Given the description of an element on the screen output the (x, y) to click on. 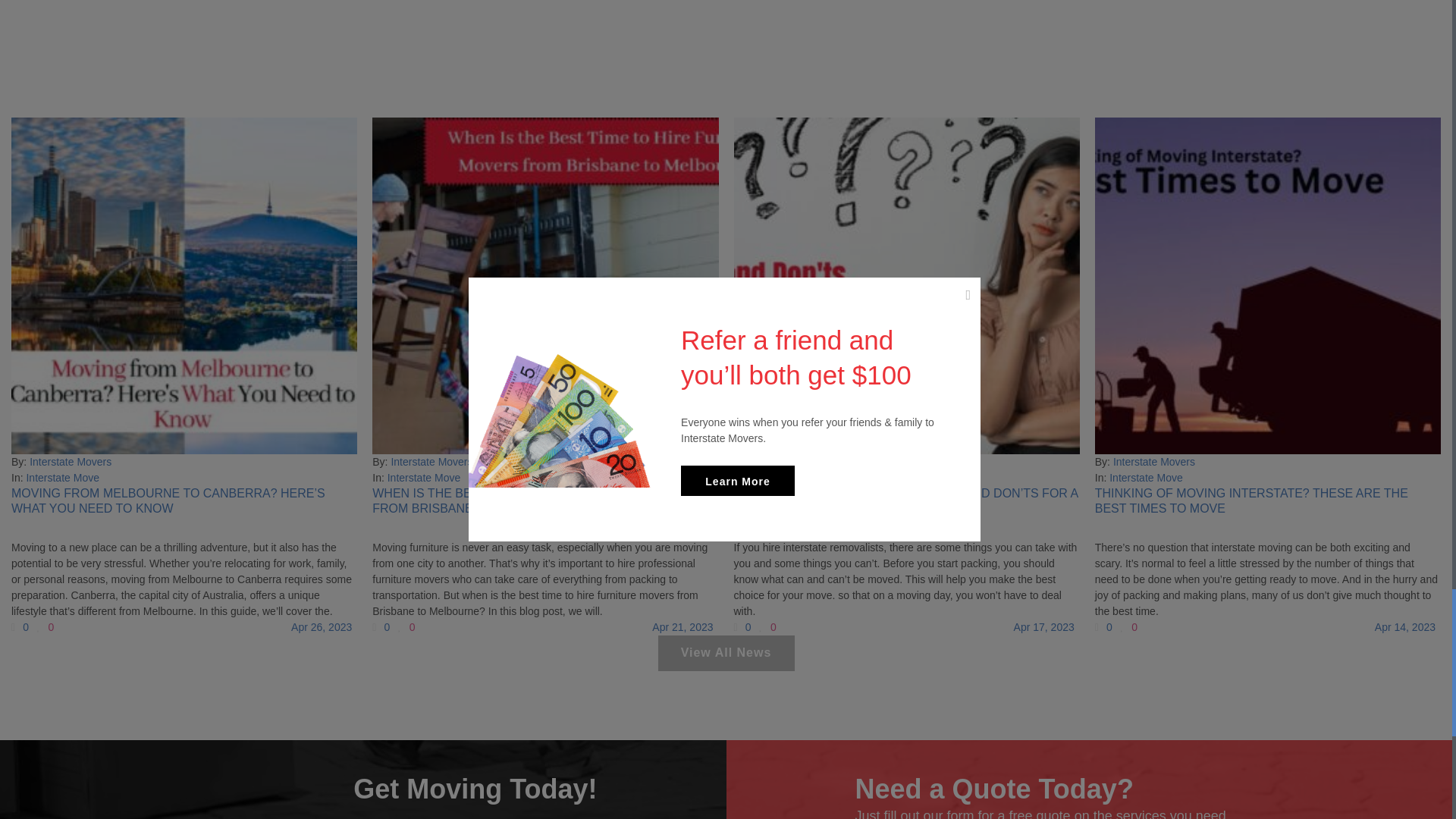
Like (405, 626)
Like (767, 626)
Like (1129, 626)
Like (45, 626)
